Given the description of an element on the screen output the (x, y) to click on. 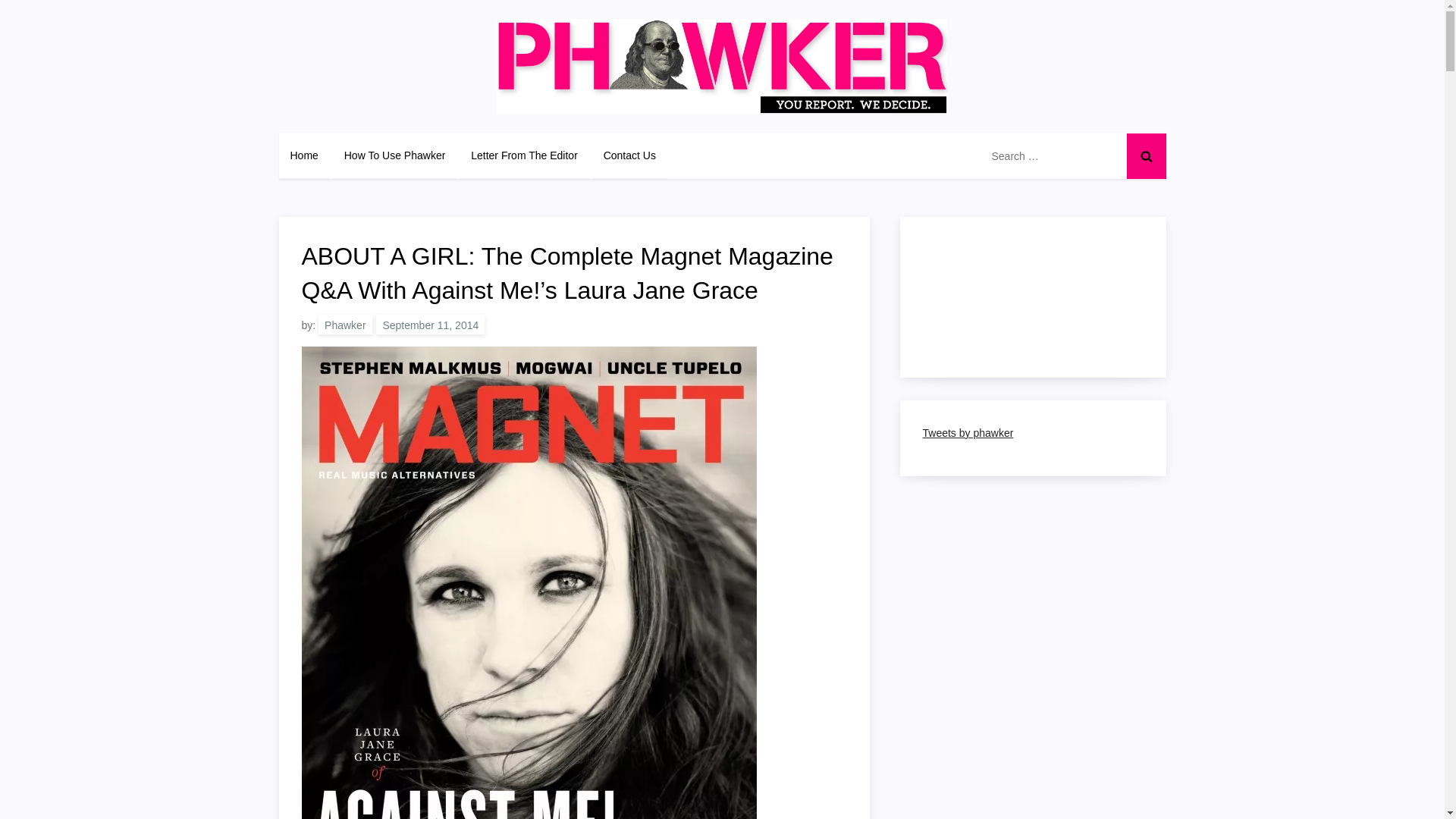
Tweets by phawker (967, 432)
Phawker (344, 324)
How To Use Phawker (395, 155)
September 11, 2014 (429, 324)
Letter From The Editor (524, 155)
Contact Us (629, 155)
Home (304, 155)
